Given the description of an element on the screen output the (x, y) to click on. 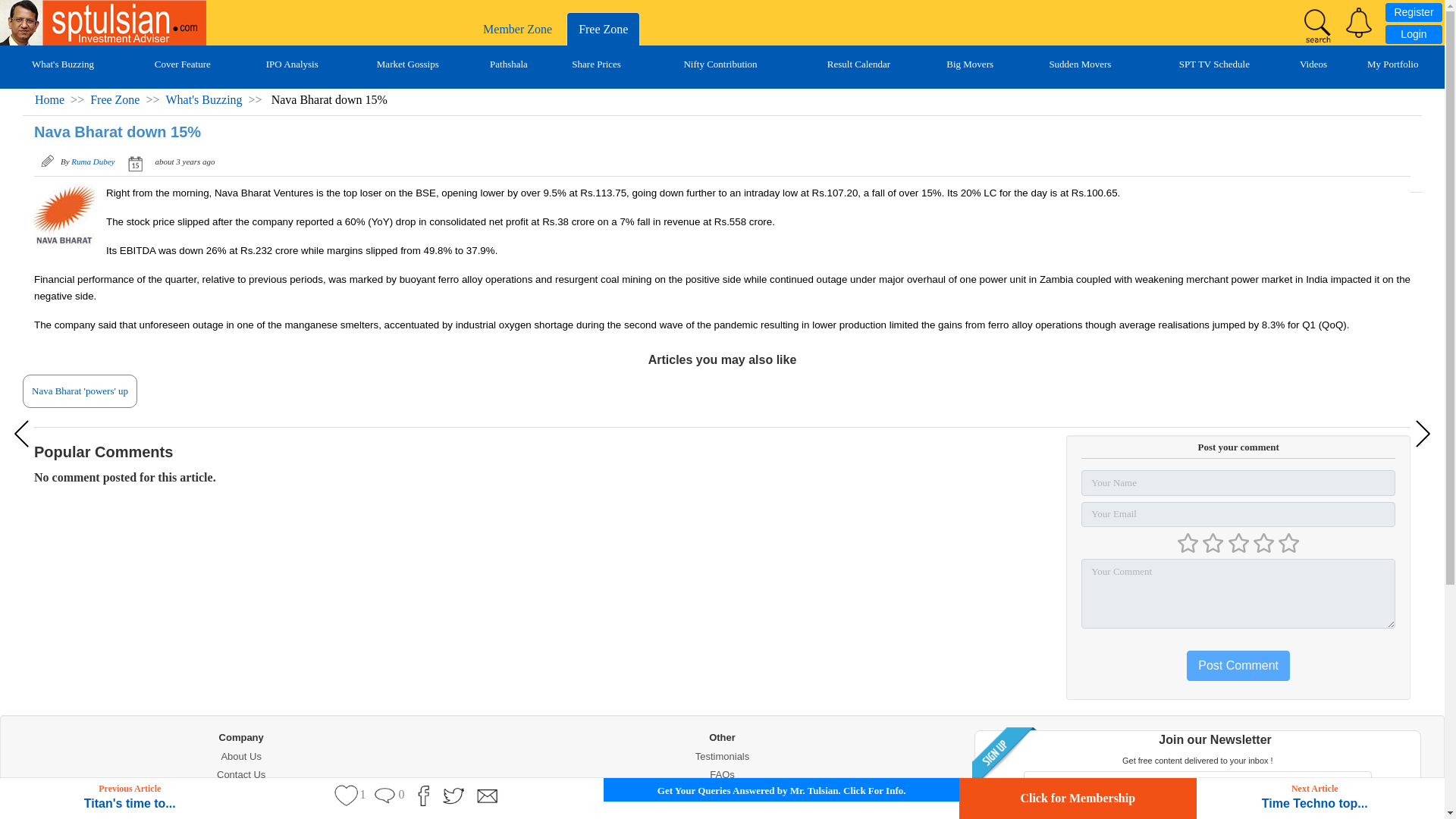
What's Buzzing (63, 63)
Register (1414, 12)
Not Rated (1237, 543)
Login (1414, 34)
My Portfolio (1392, 63)
Cover Feature (182, 63)
Titan's time to come (24, 433)
Market Gossips (408, 63)
Free Zone (603, 29)
Sudden Movers (1079, 63)
